Given the description of an element on the screen output the (x, y) to click on. 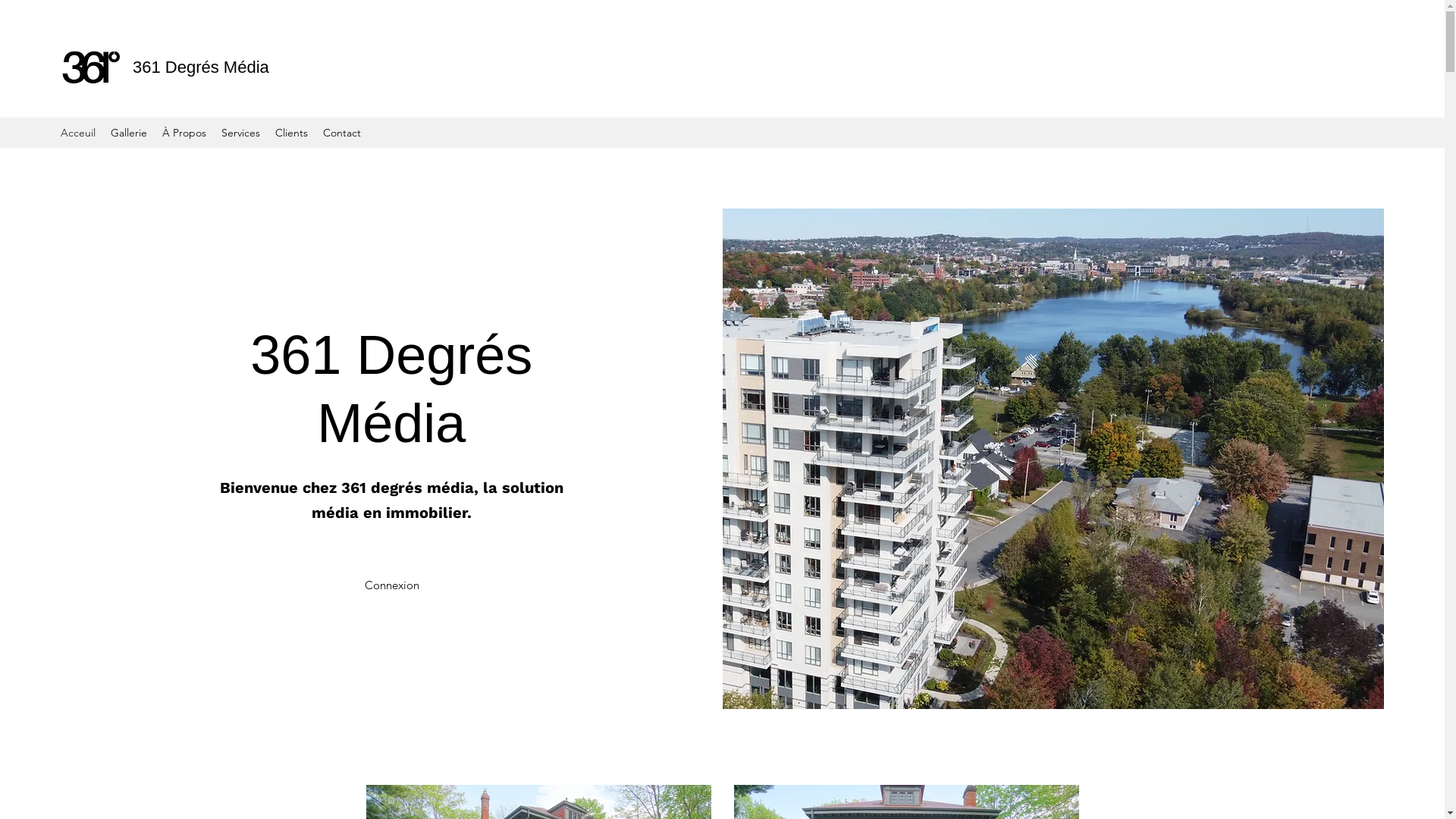
Services Element type: text (240, 132)
Clients Element type: text (291, 132)
Connexion Element type: text (391, 585)
Contact Element type: text (341, 132)
Gallerie Element type: text (128, 132)
Acceuil Element type: text (78, 132)
